Given the description of an element on the screen output the (x, y) to click on. 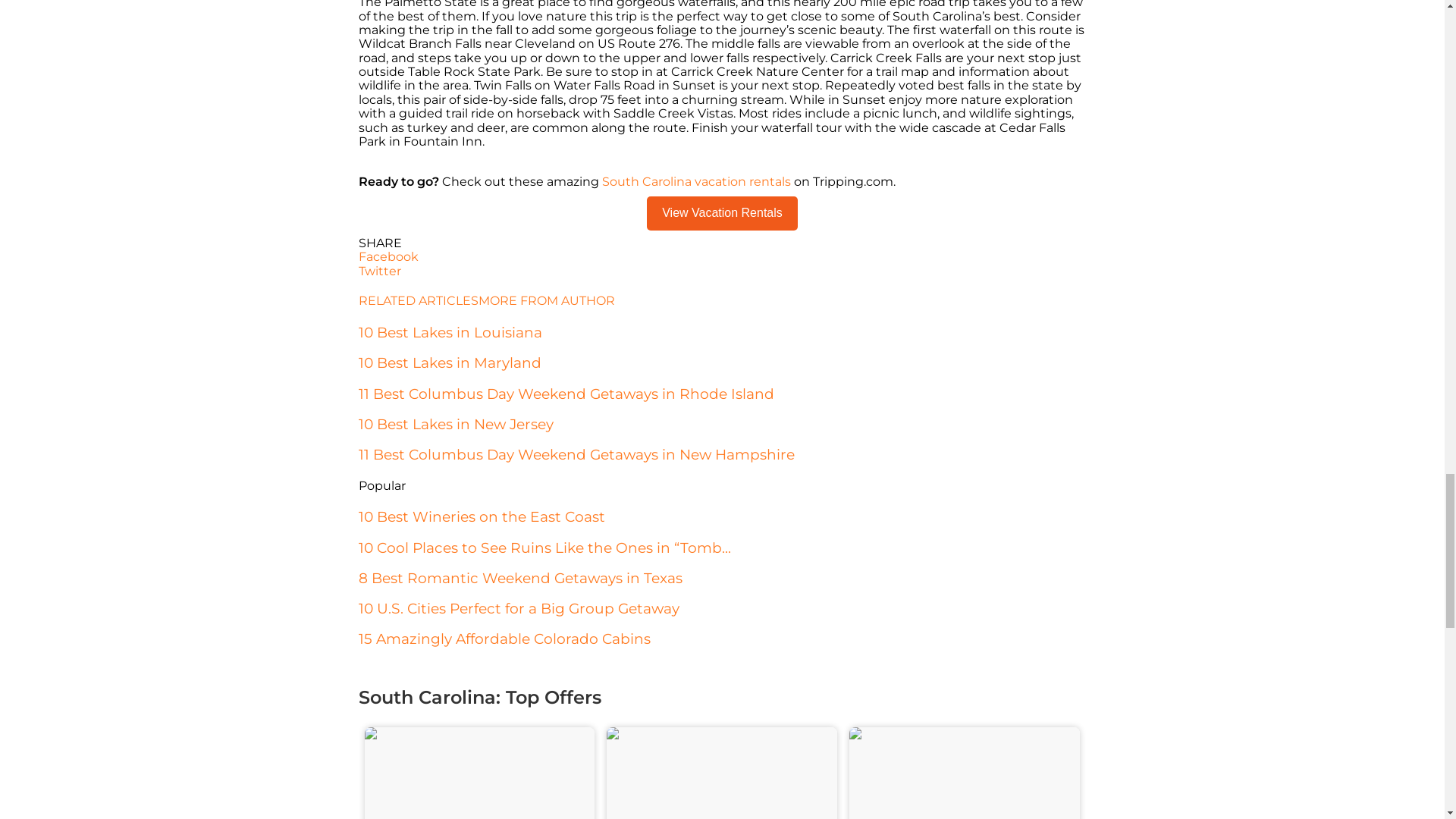
15 Amazingly Affordable Colorado Cabins (503, 638)
11 Best Columbus Day Weekend Getaways in Rhode Island (565, 393)
10 Best Lakes in Maryland (449, 362)
Facebook (722, 256)
11 Best Columbus Day Weekend Getaways in New Hampshire (575, 454)
10 Best Lakes in New Jersey (455, 424)
11 Best Columbus Day Weekend Getaways in New Hampshire (575, 454)
10 Best Lakes in Maryland (449, 362)
11 Best Columbus Day Weekend Getaways in Rhode Island (565, 393)
RELATED ARTICLES (417, 300)
10 Best Lakes in New Jersey (455, 424)
10 U.S. Cities Perfect for a Big Group Getaway (518, 608)
10 Best Wineries on the East Coast (481, 516)
10 Best Lakes in Louisiana (449, 332)
15 Amazingly Affordable Colorado Cabins (503, 638)
